Given the description of an element on the screen output the (x, y) to click on. 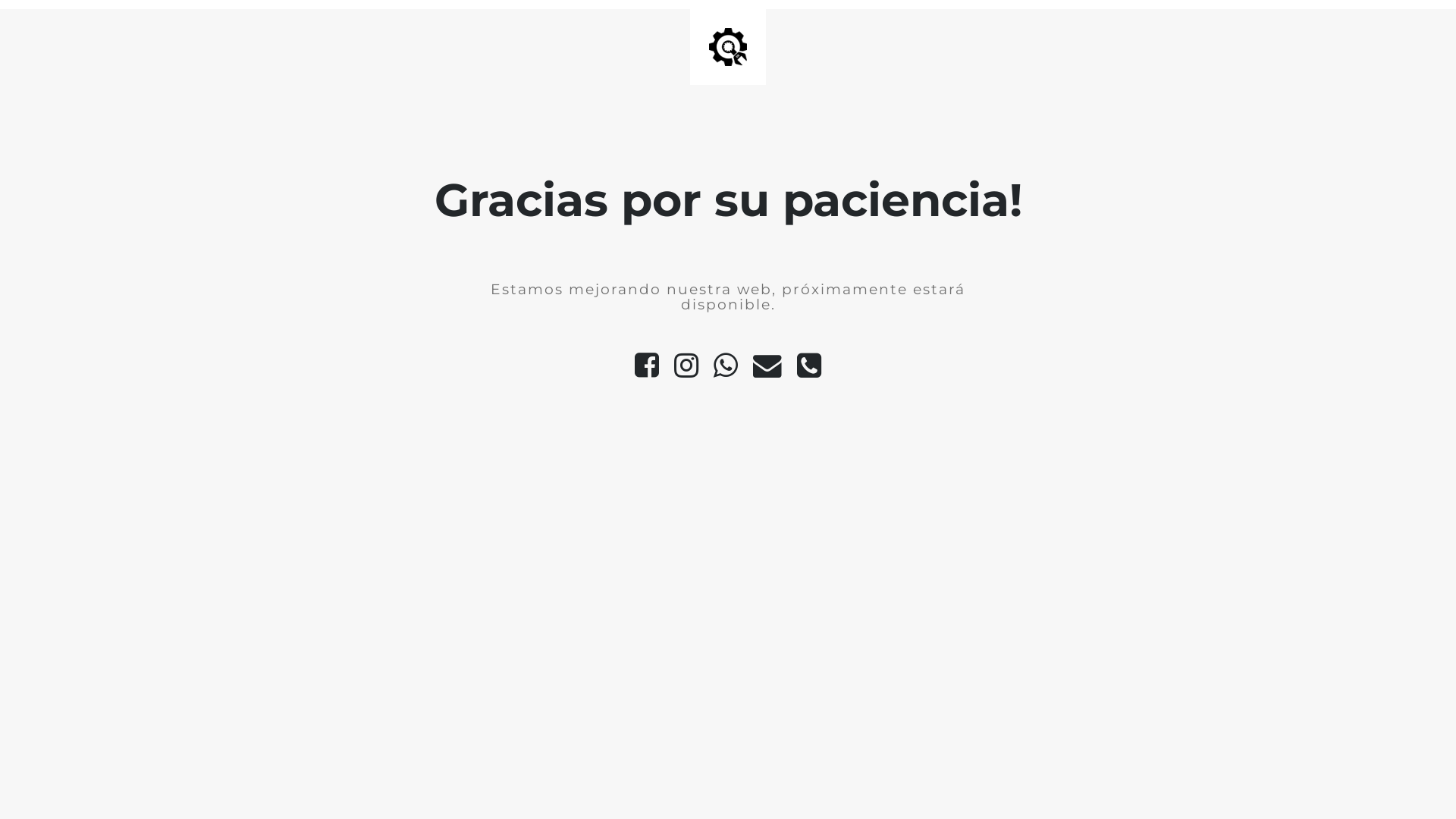
Site is Under Construction Element type: hover (727, 46)
